Given the description of an element on the screen output the (x, y) to click on. 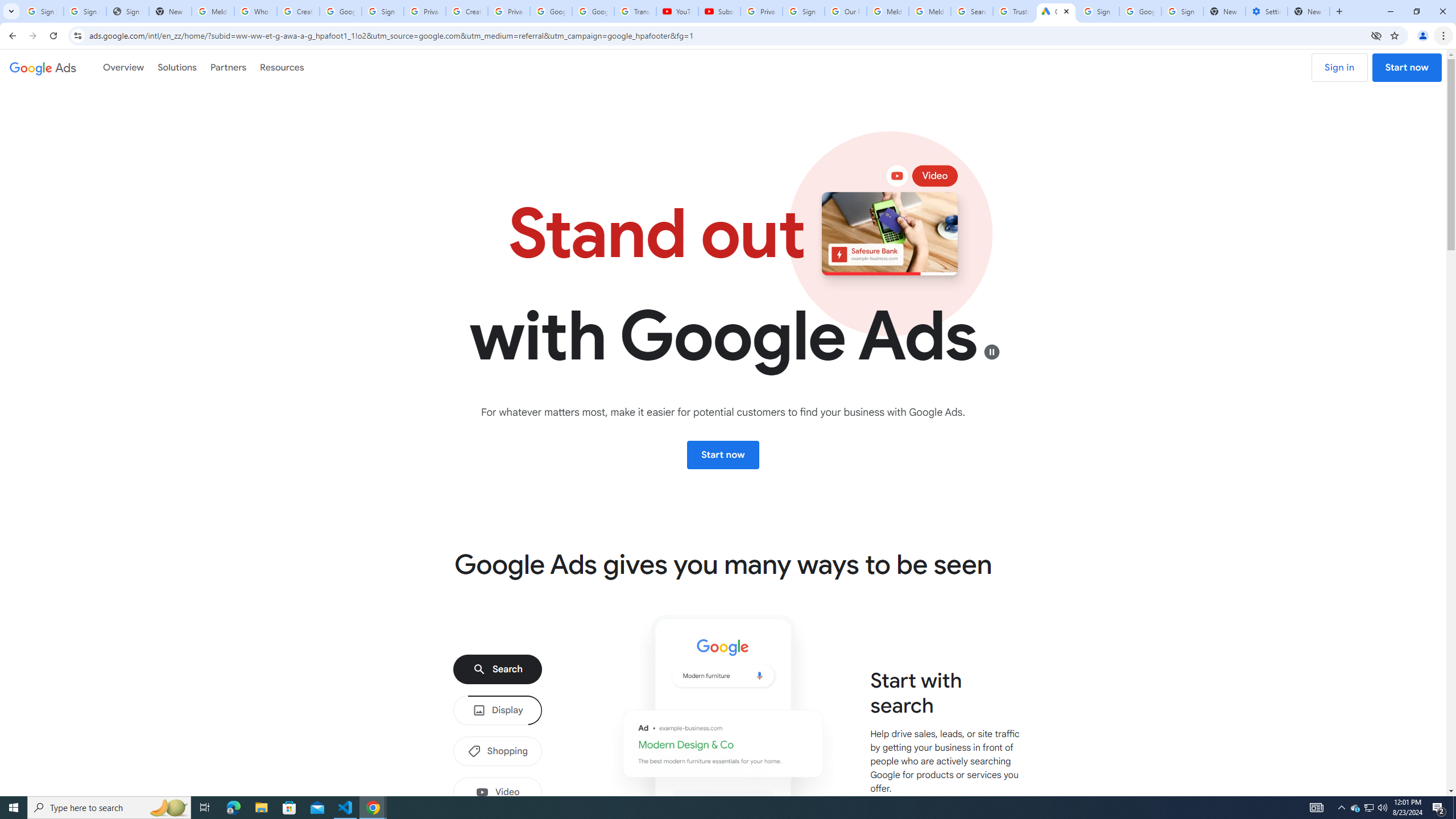
Subscriptions - YouTube (719, 11)
Pause animation (991, 351)
YouTube (676, 11)
Sign in - Google Accounts (382, 11)
New Tab (1308, 11)
Google Ads (42, 67)
